Given the description of an element on the screen output the (x, y) to click on. 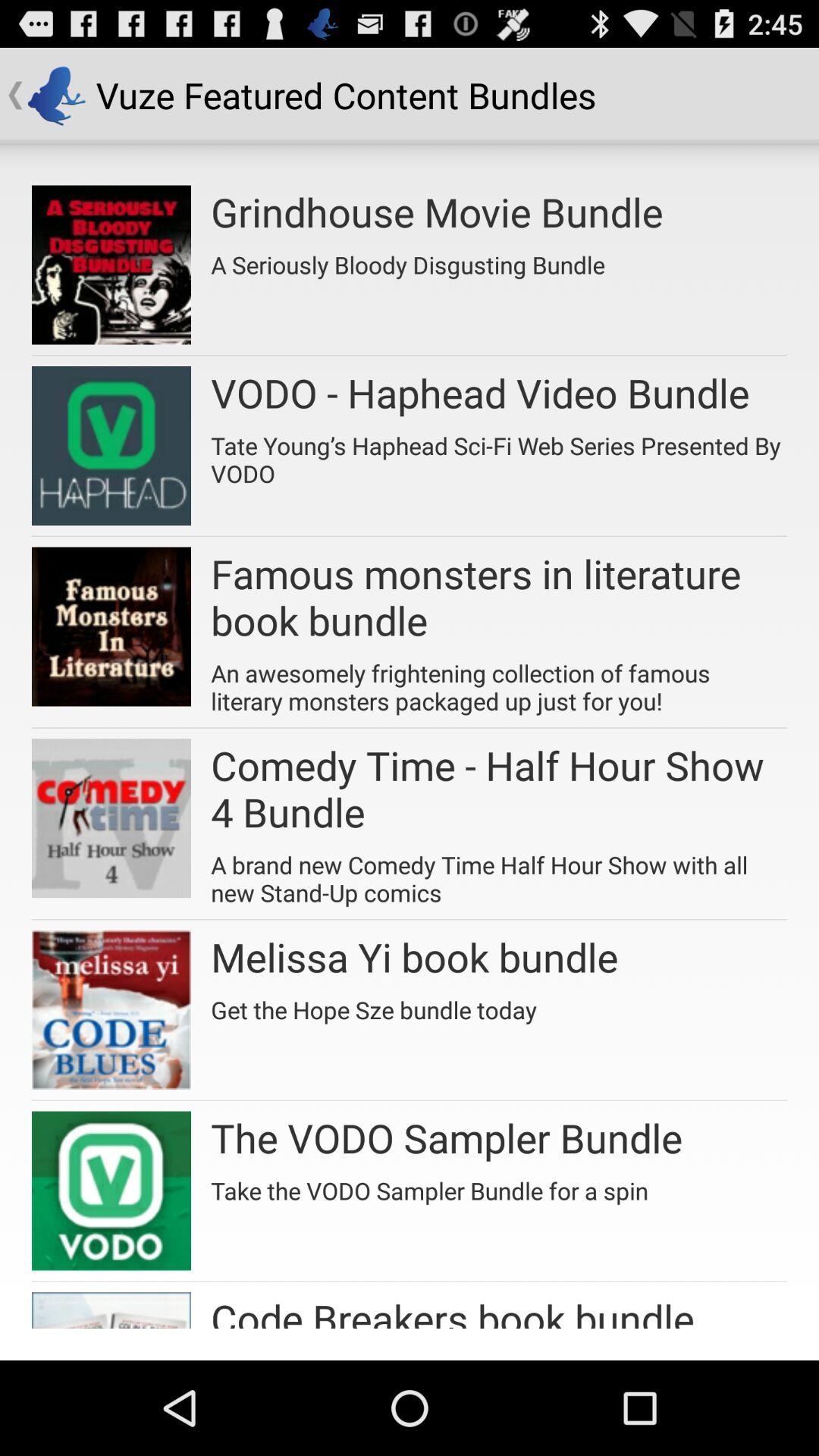
launch icon above get the hope app (414, 956)
